Given the description of an element on the screen output the (x, y) to click on. 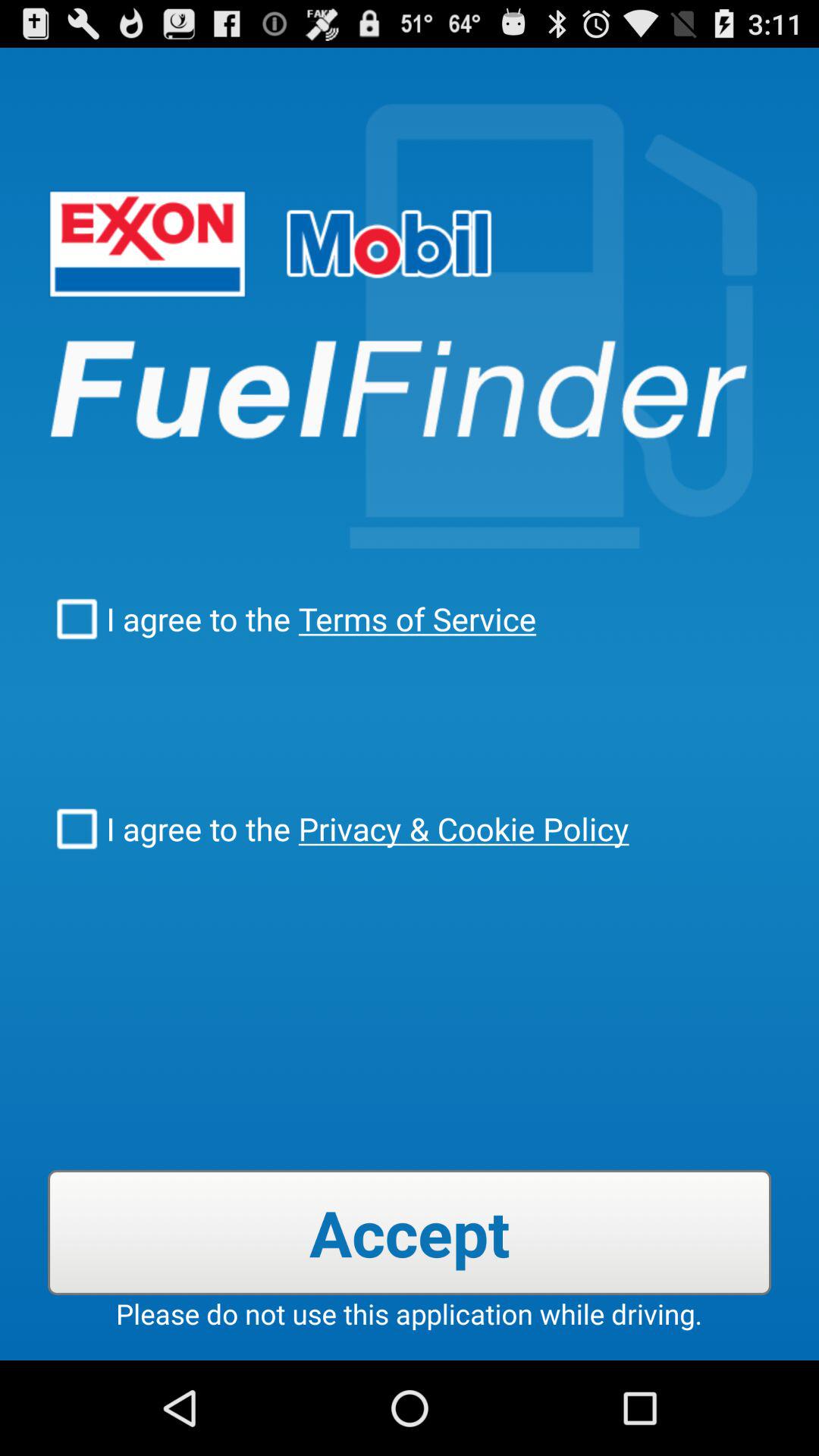
tap the checkbox next to the i agree to item (459, 828)
